Given the description of an element on the screen output the (x, y) to click on. 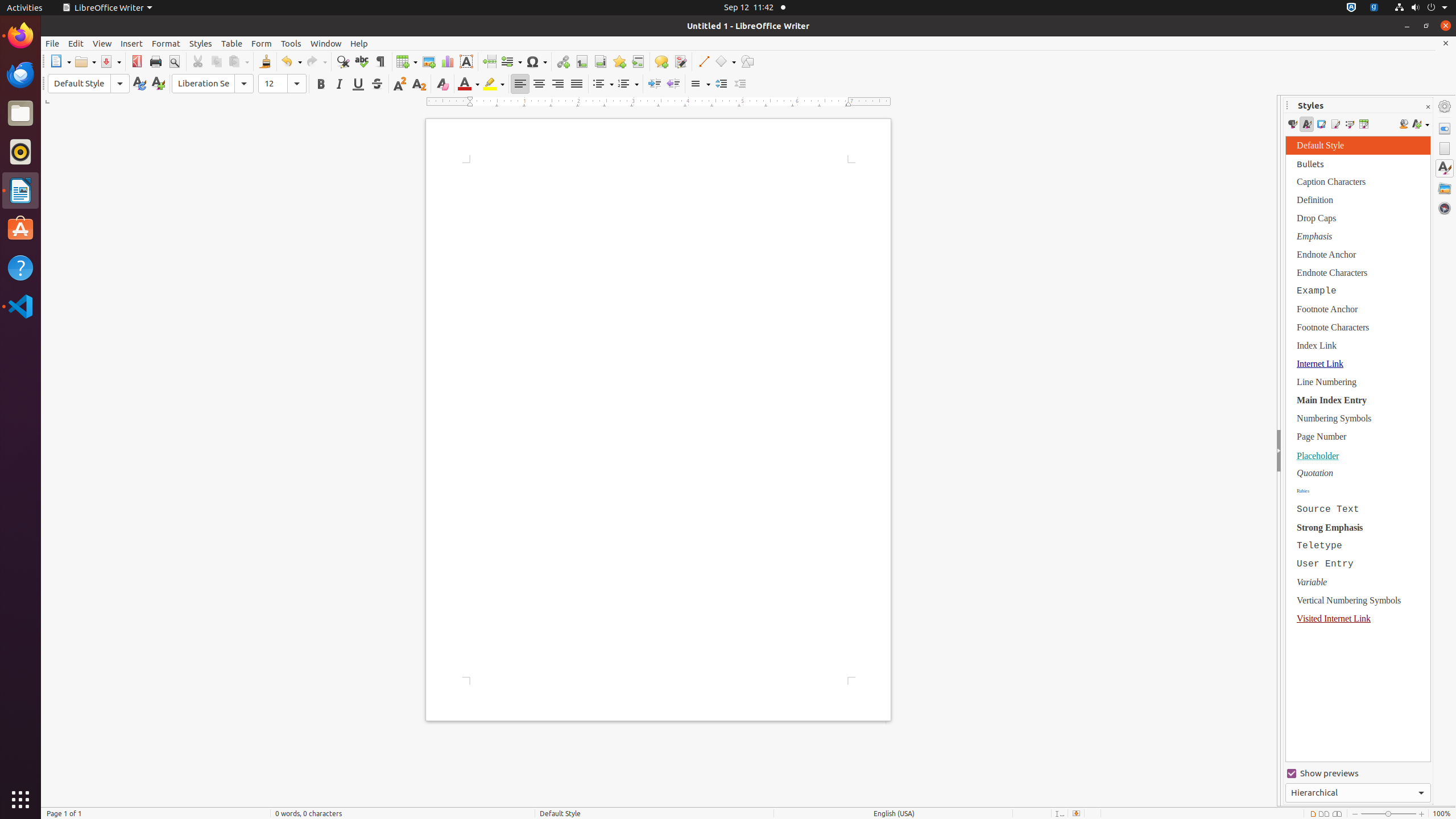
Image Element type: push-button (428, 61)
Footnote Element type: push-button (581, 61)
Format Element type: menu (165, 43)
Clone Element type: push-button (264, 61)
Help Element type: push-button (20, 267)
